Given the description of an element on the screen output the (x, y) to click on. 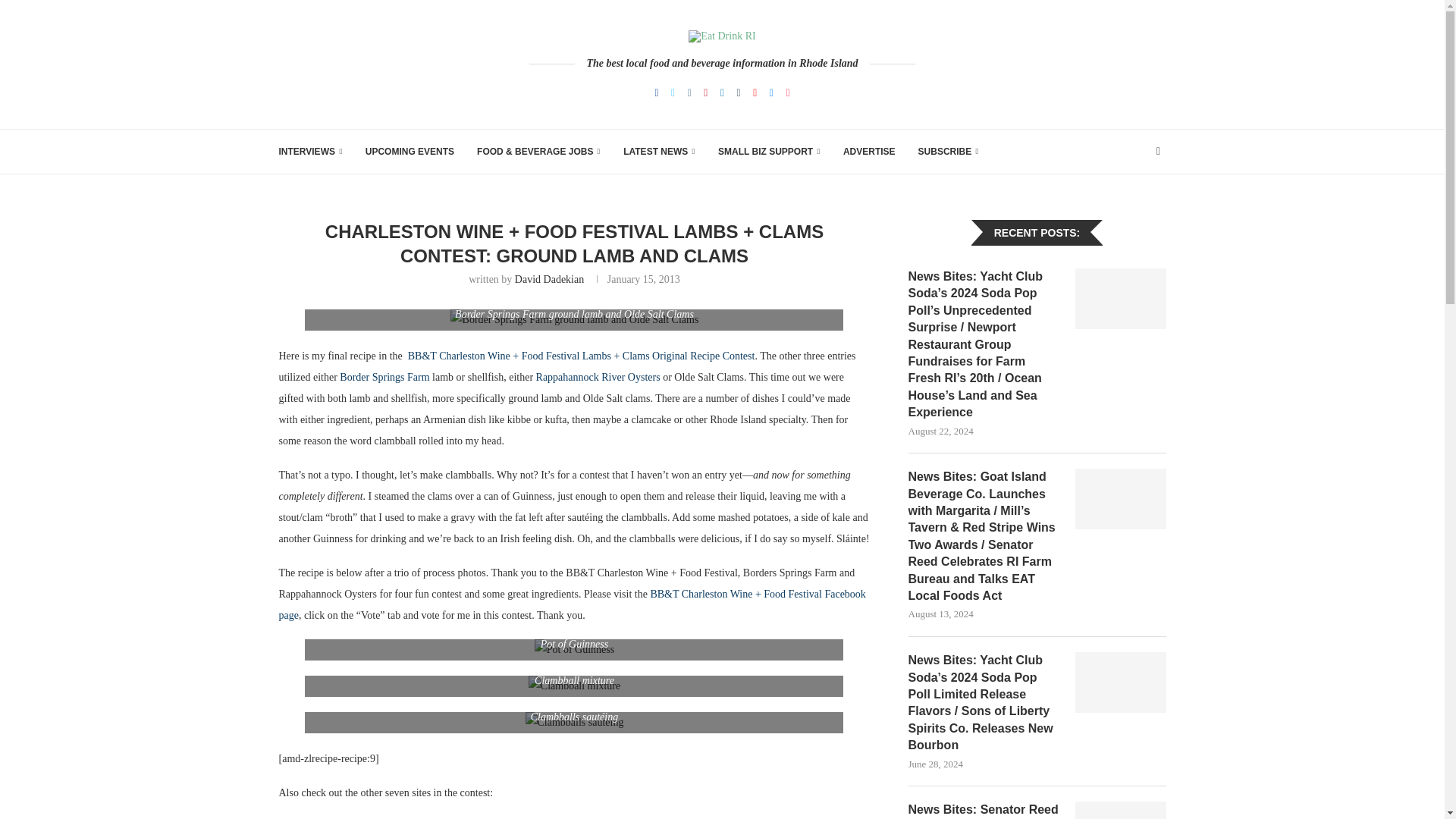
INTERVIEWS (310, 151)
ADVERTISE (869, 151)
Border Springs Farm (384, 377)
UPCOMING EVENTS (409, 151)
Clambball mixture (574, 685)
SUBSCRIBE (948, 151)
SMALL BIZ SUPPORT (769, 151)
David Dadekian (549, 279)
Rappahannock River Oysters (598, 377)
Border Springs Farm (384, 377)
